Given the description of an element on the screen output the (x, y) to click on. 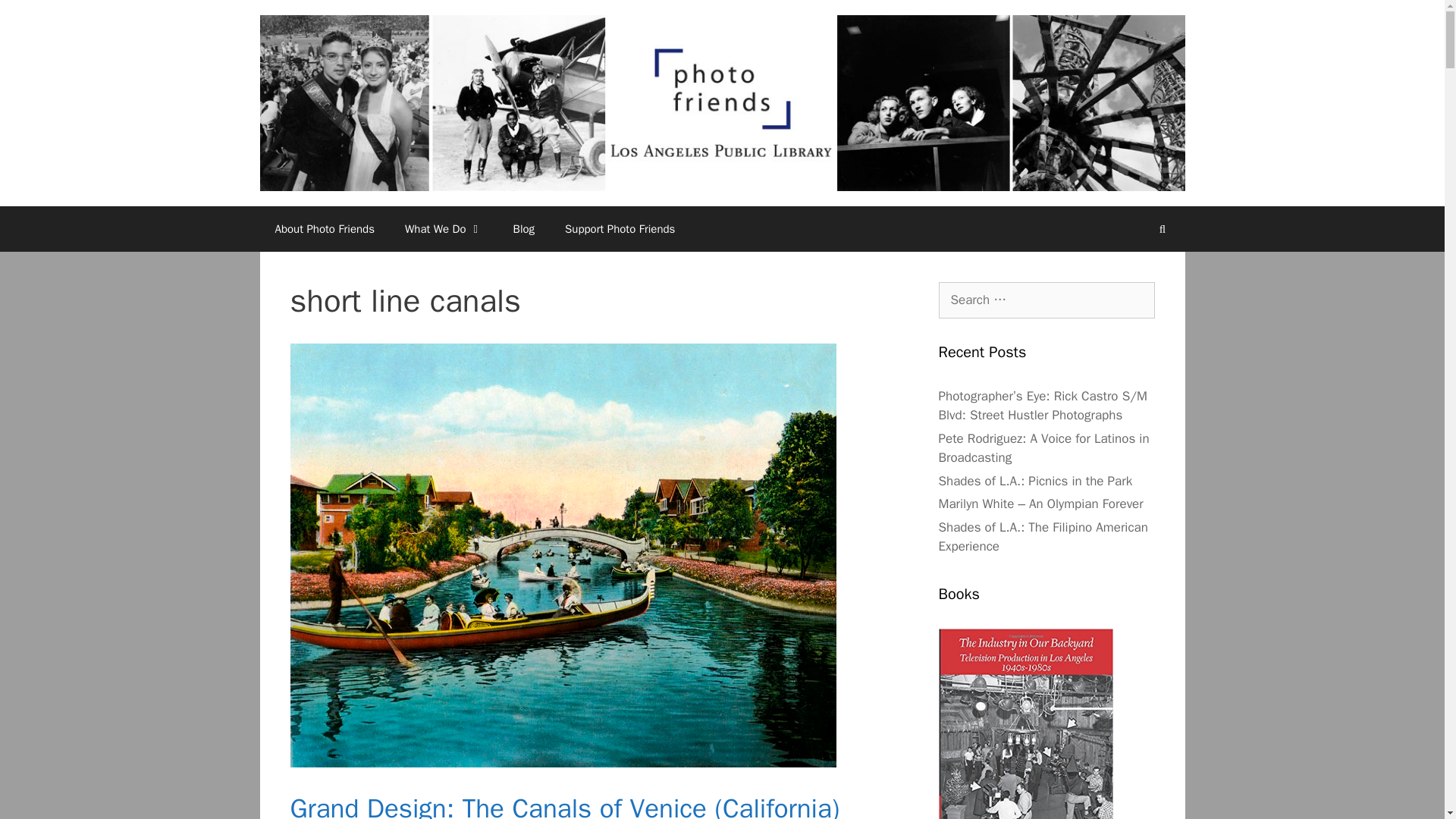
About Photo Friends (324, 228)
Blog (523, 228)
What We Do (443, 228)
Search for: (1046, 299)
Support Photo Friends (620, 228)
